Given the description of an element on the screen output the (x, y) to click on. 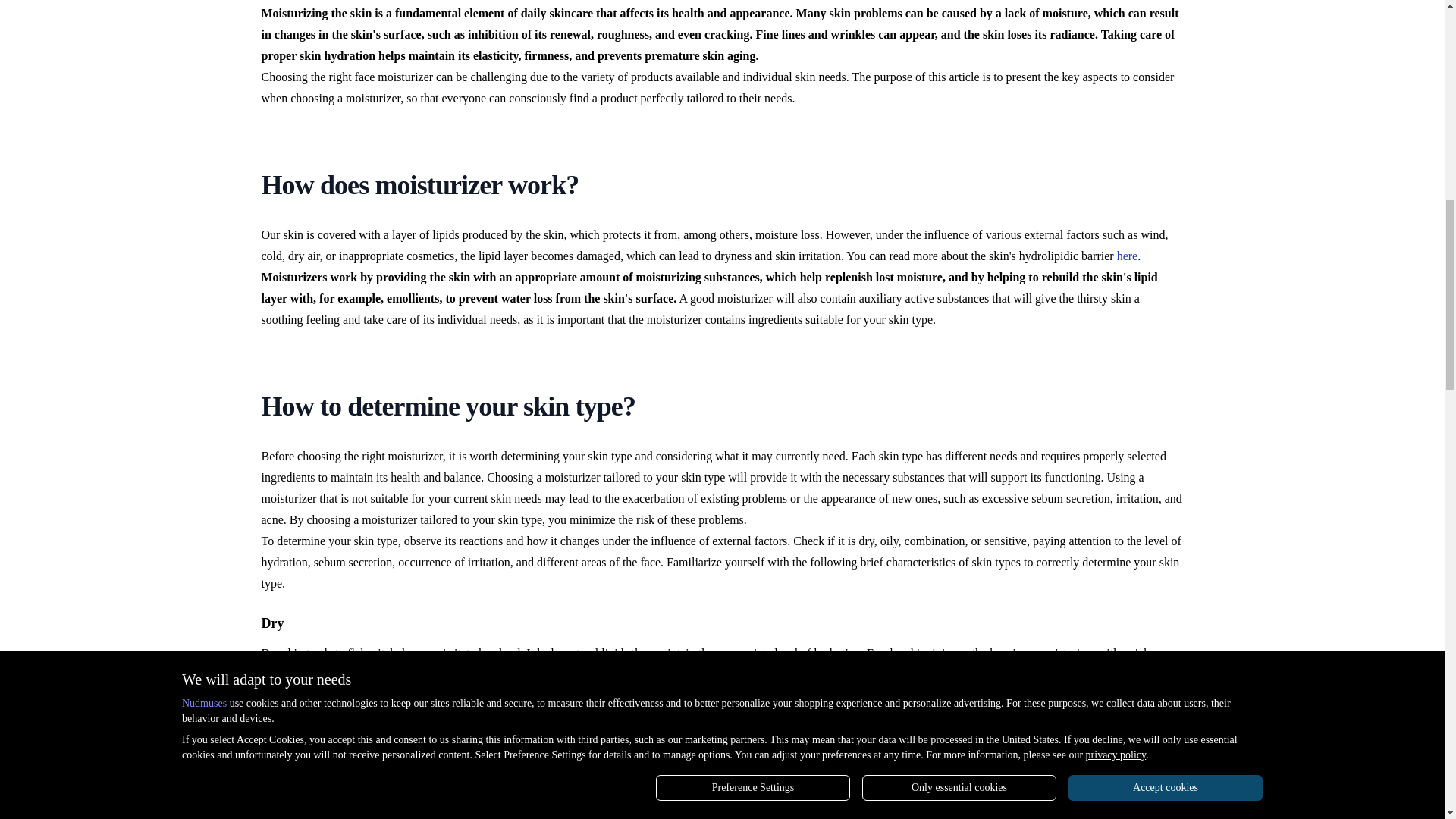
here (1127, 255)
natural lipid barrier (715, 674)
here (1056, 674)
article (691, 765)
